Given the description of an element on the screen output the (x, y) to click on. 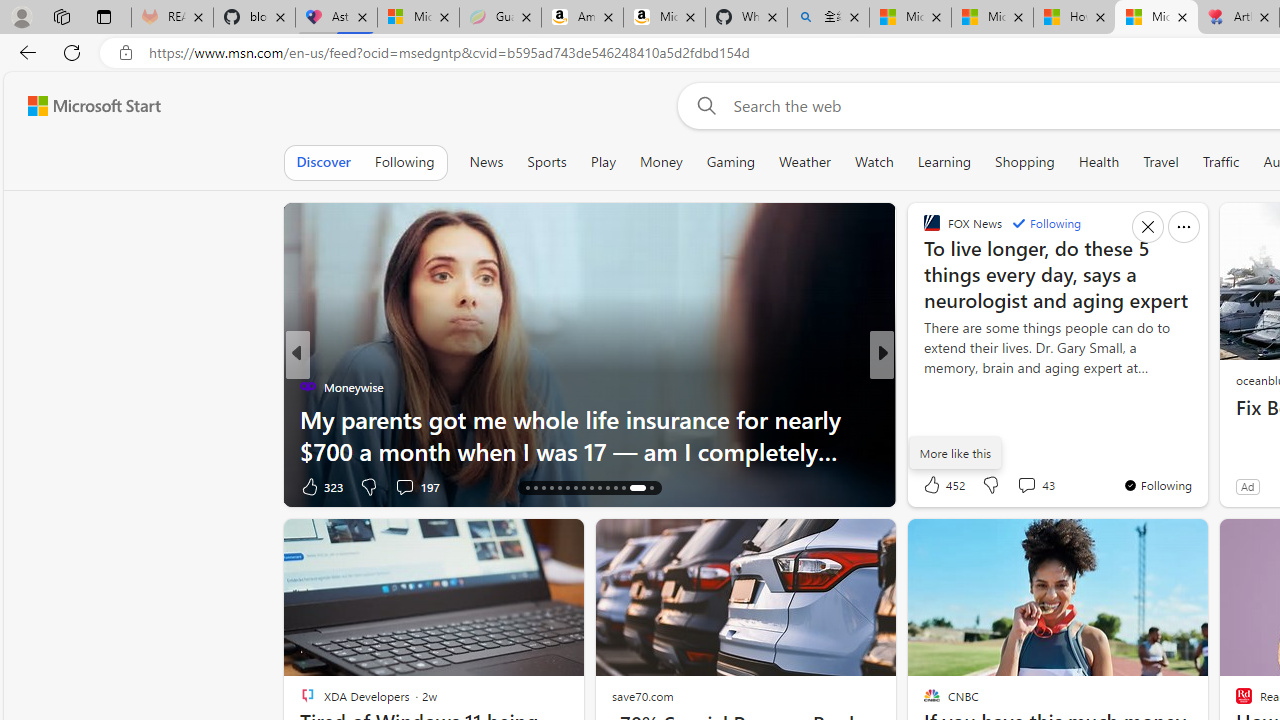
View comments 43 Comment (1035, 484)
Health (1098, 162)
Asthma Inhalers: Names and Types (336, 17)
AutomationID: tab-29 (637, 487)
You're following FOX News (1157, 485)
Traffic (1220, 162)
Hide this story (1147, 542)
